Given the description of an element on the screen output the (x, y) to click on. 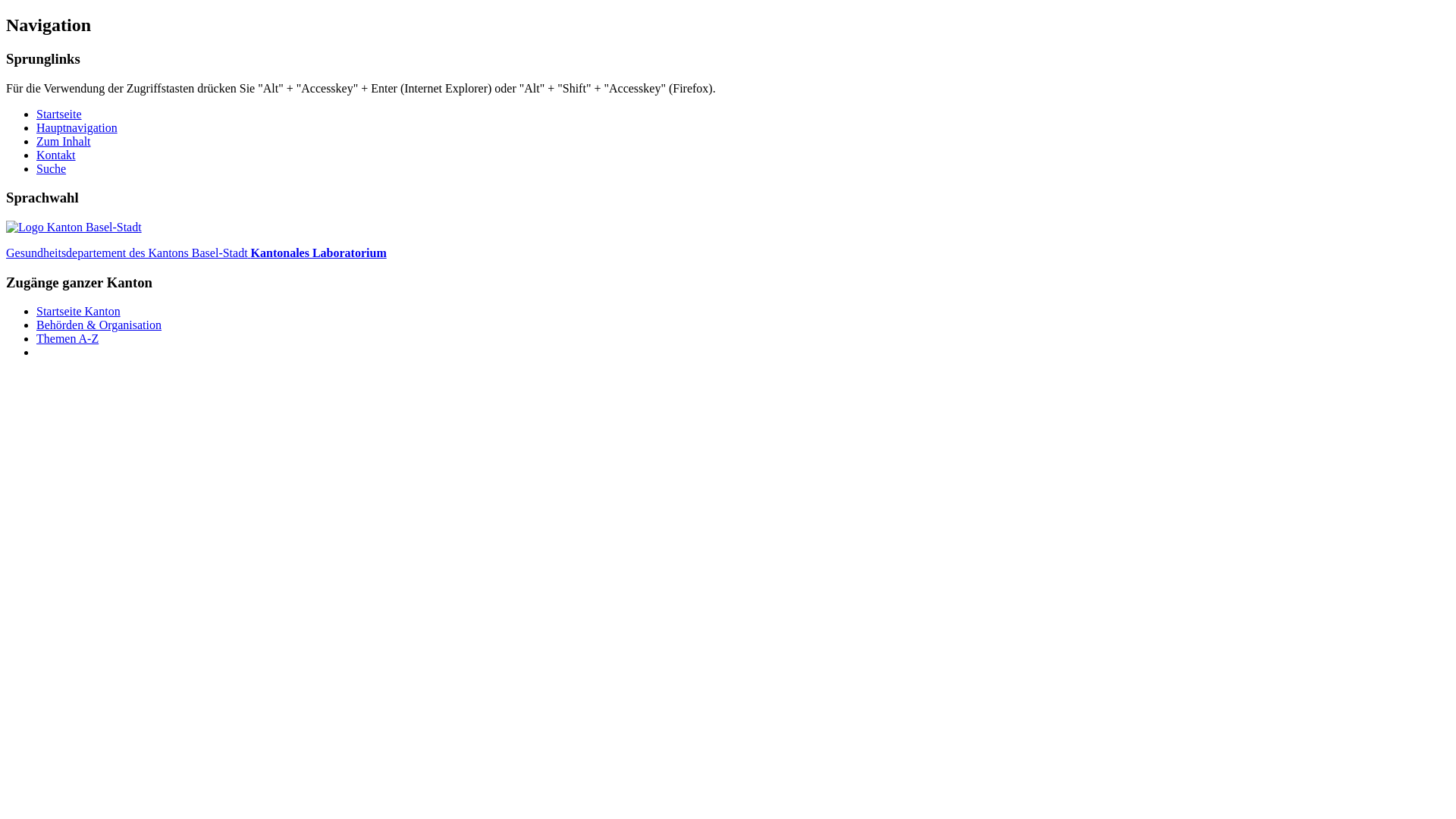
Themen A-Z Element type: text (67, 338)
Zum Inhalt Element type: text (63, 140)
Suche Element type: text (50, 168)
Startseite Element type: text (58, 113)
Kontakt Element type: text (55, 154)
Startseite Kanton Element type: text (78, 310)
Hauptnavigation Element type: text (76, 127)
